Given the description of an element on the screen output the (x, y) to click on. 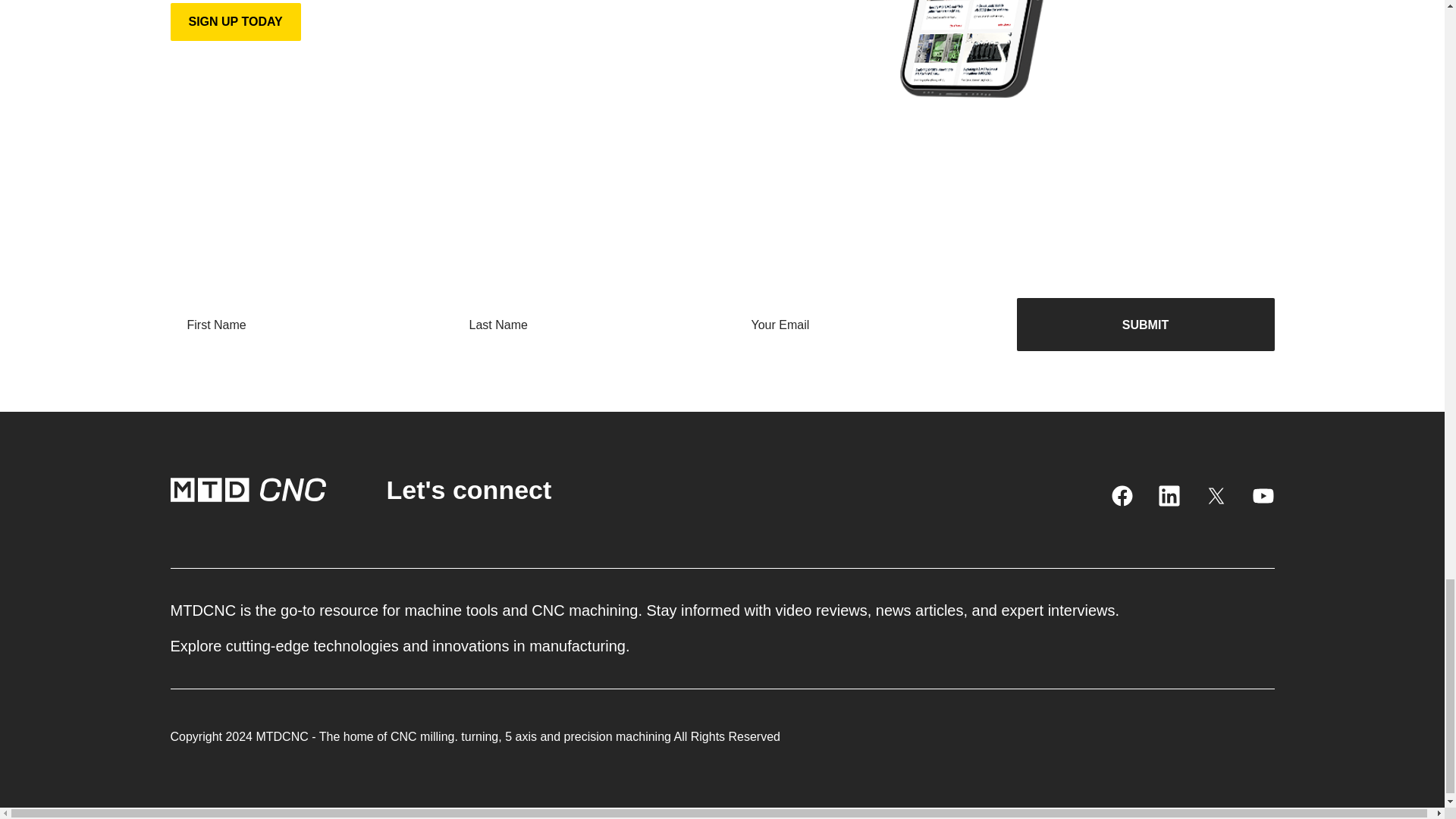
SUBMIT (1145, 324)
Go to X (1215, 495)
Go to LinkedIn (1168, 495)
Home (247, 489)
SIGN UP TODAY (234, 21)
Go to Facebook (1120, 495)
Go to YouTube (1262, 495)
